Given the description of an element on the screen output the (x, y) to click on. 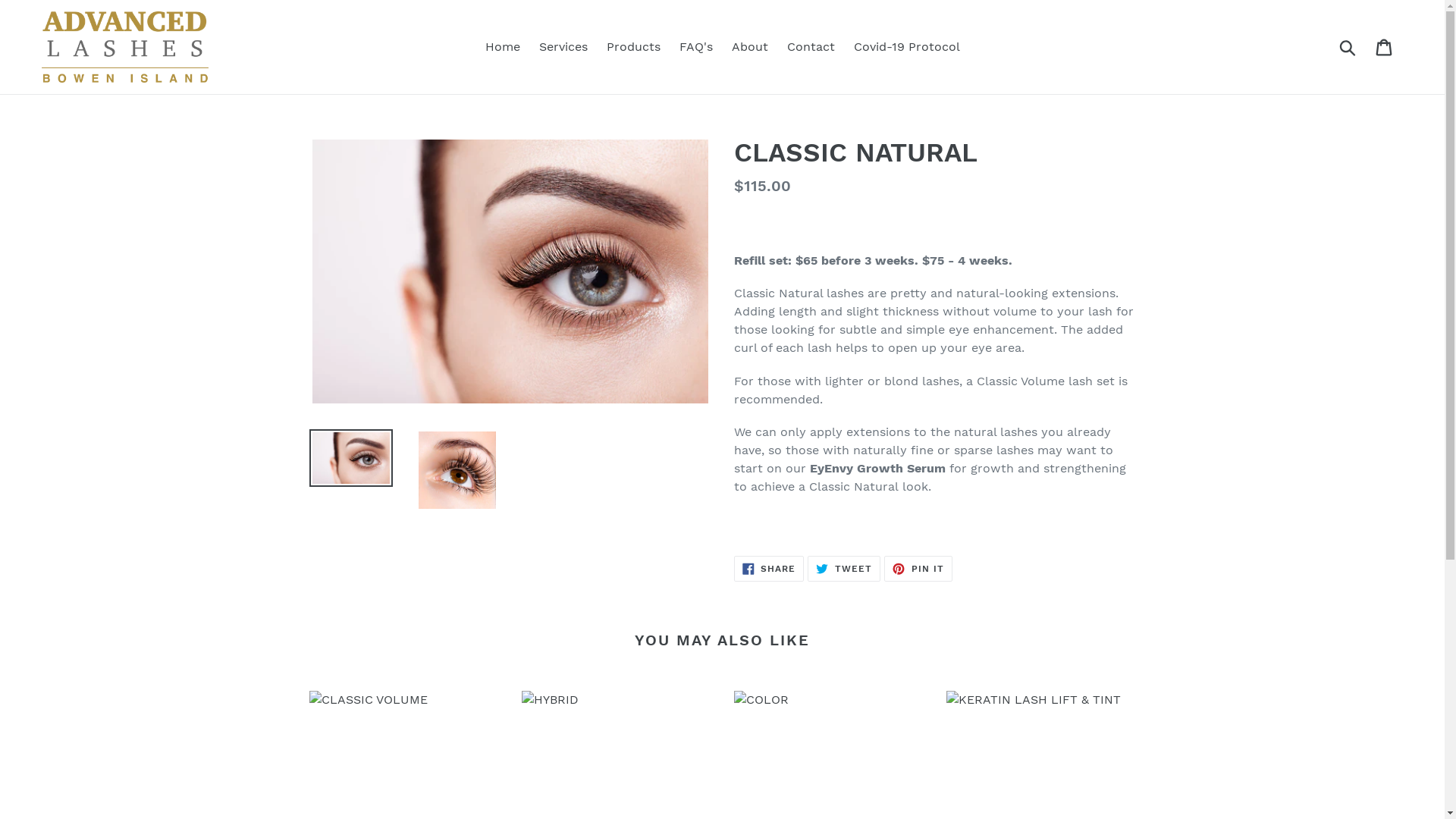
About Element type: text (749, 46)
Covid-19 Protocol Element type: text (906, 46)
Submit Element type: text (1348, 46)
Contact Element type: text (810, 46)
Home Element type: text (502, 46)
SHARE
SHARE ON FACEBOOK Element type: text (769, 568)
FAQ's Element type: text (695, 46)
Services Element type: text (562, 46)
Cart Element type: text (1384, 47)
PIN IT
PIN ON PINTEREST Element type: text (918, 568)
Products Element type: text (633, 46)
TWEET
TWEET ON TWITTER Element type: text (843, 568)
